Given the description of an element on the screen output the (x, y) to click on. 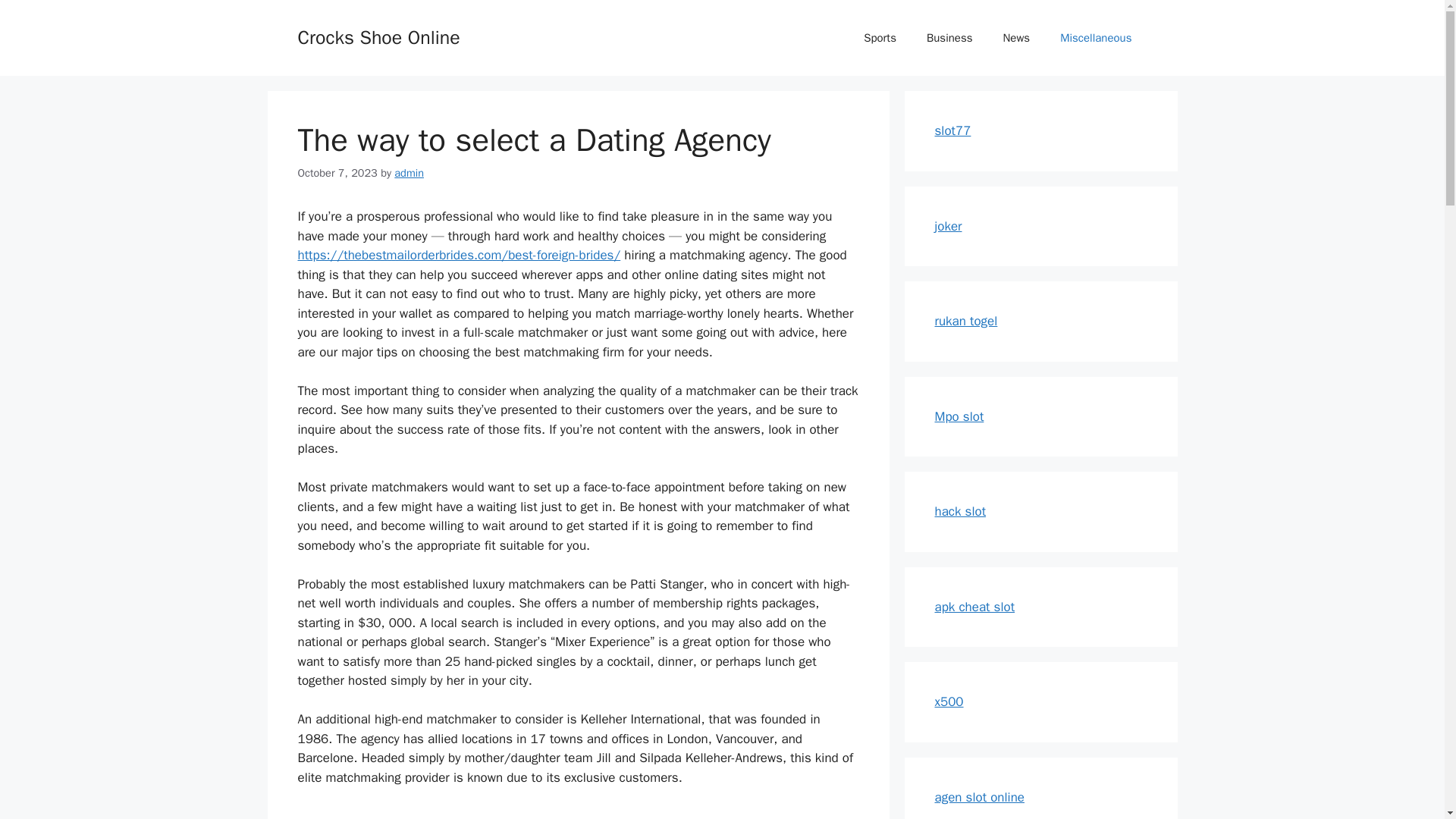
joker (947, 226)
Sports (879, 37)
apk cheat slot (974, 606)
slot77 (952, 130)
Mpo slot (959, 415)
News (1016, 37)
Crocks Shoe Online (378, 37)
hack slot (959, 511)
admin (408, 172)
rukan togel (965, 320)
Business (949, 37)
x500 (948, 701)
View all posts by admin (408, 172)
Miscellaneous (1096, 37)
agen slot online (978, 796)
